Given the description of an element on the screen output the (x, y) to click on. 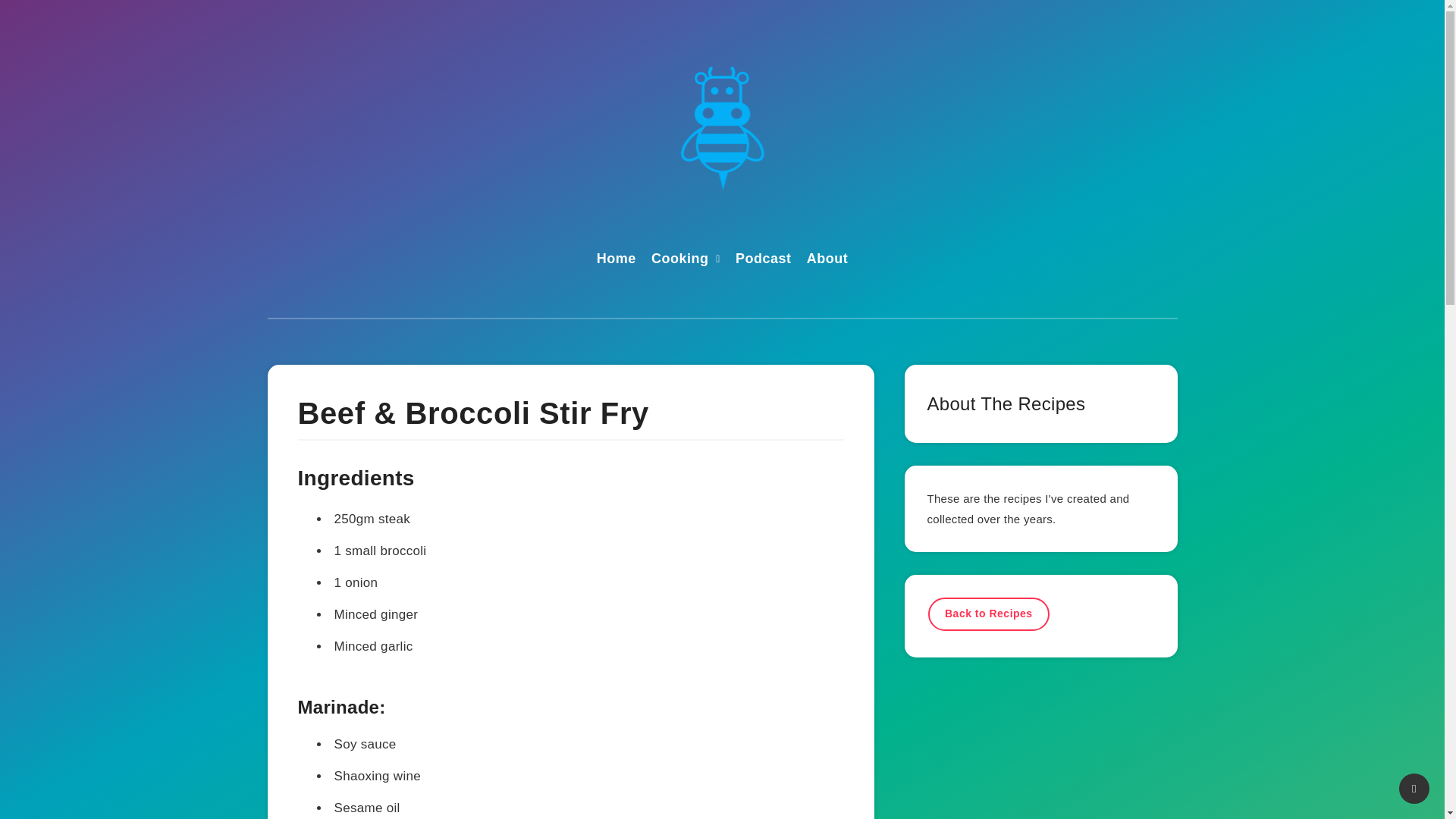
Home (616, 259)
Cooking (679, 259)
About (826, 259)
Back to Recipes (988, 613)
Podcast (763, 259)
